Given the description of an element on the screen output the (x, y) to click on. 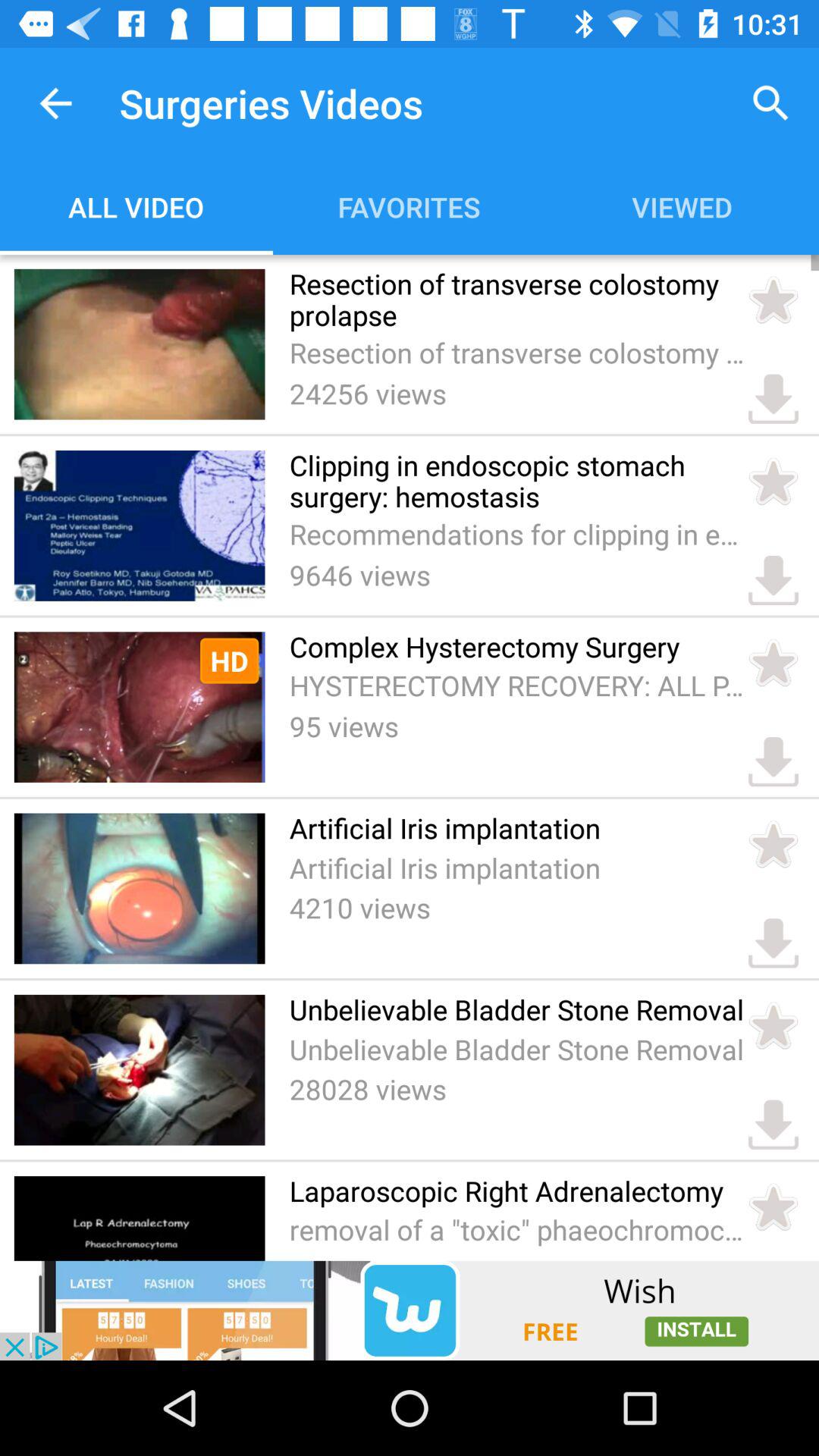
go to the advertisement (409, 1310)
